Given the description of an element on the screen output the (x, y) to click on. 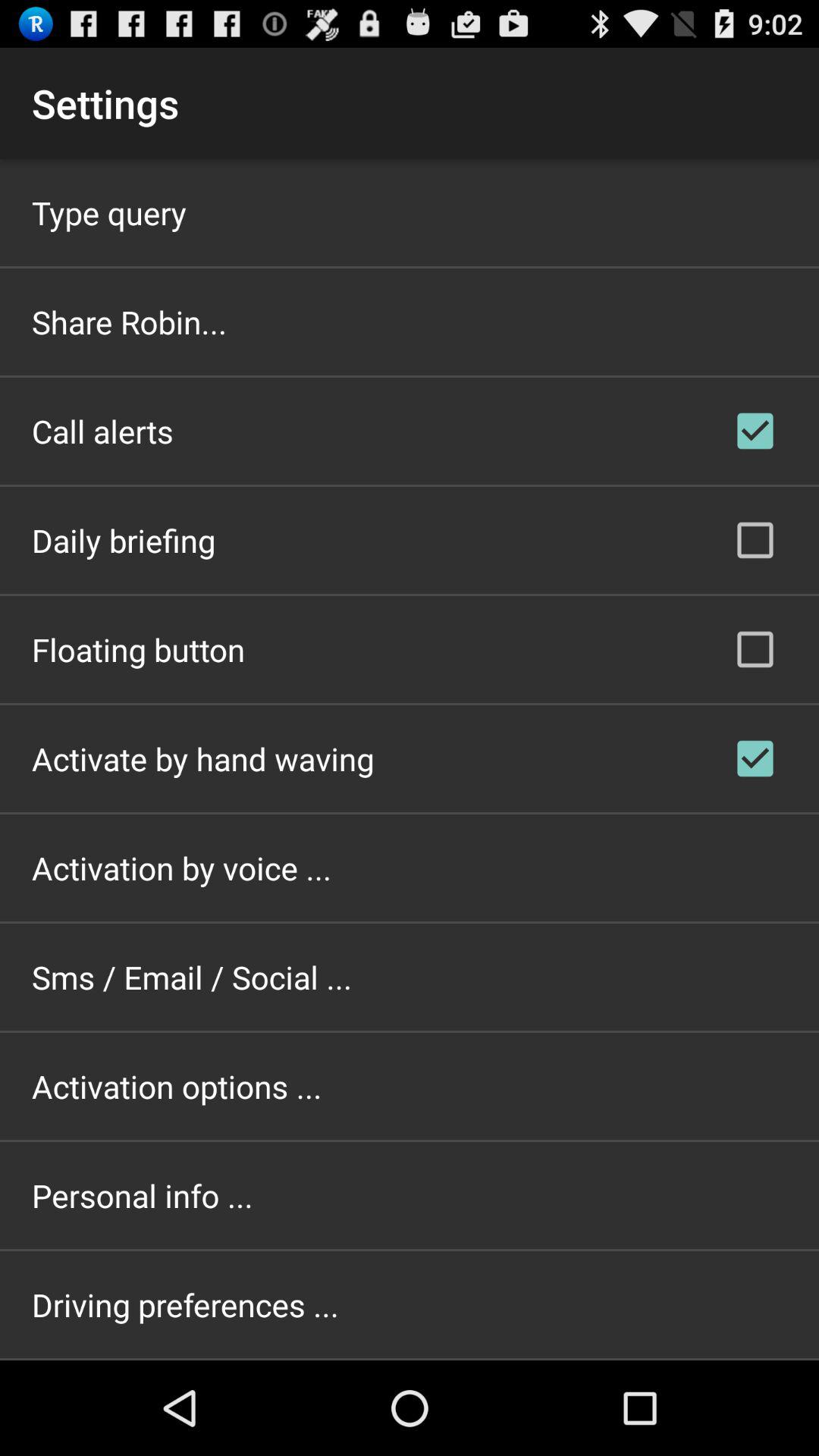
swipe to driving preferences ... item (184, 1304)
